Given the description of an element on the screen output the (x, y) to click on. 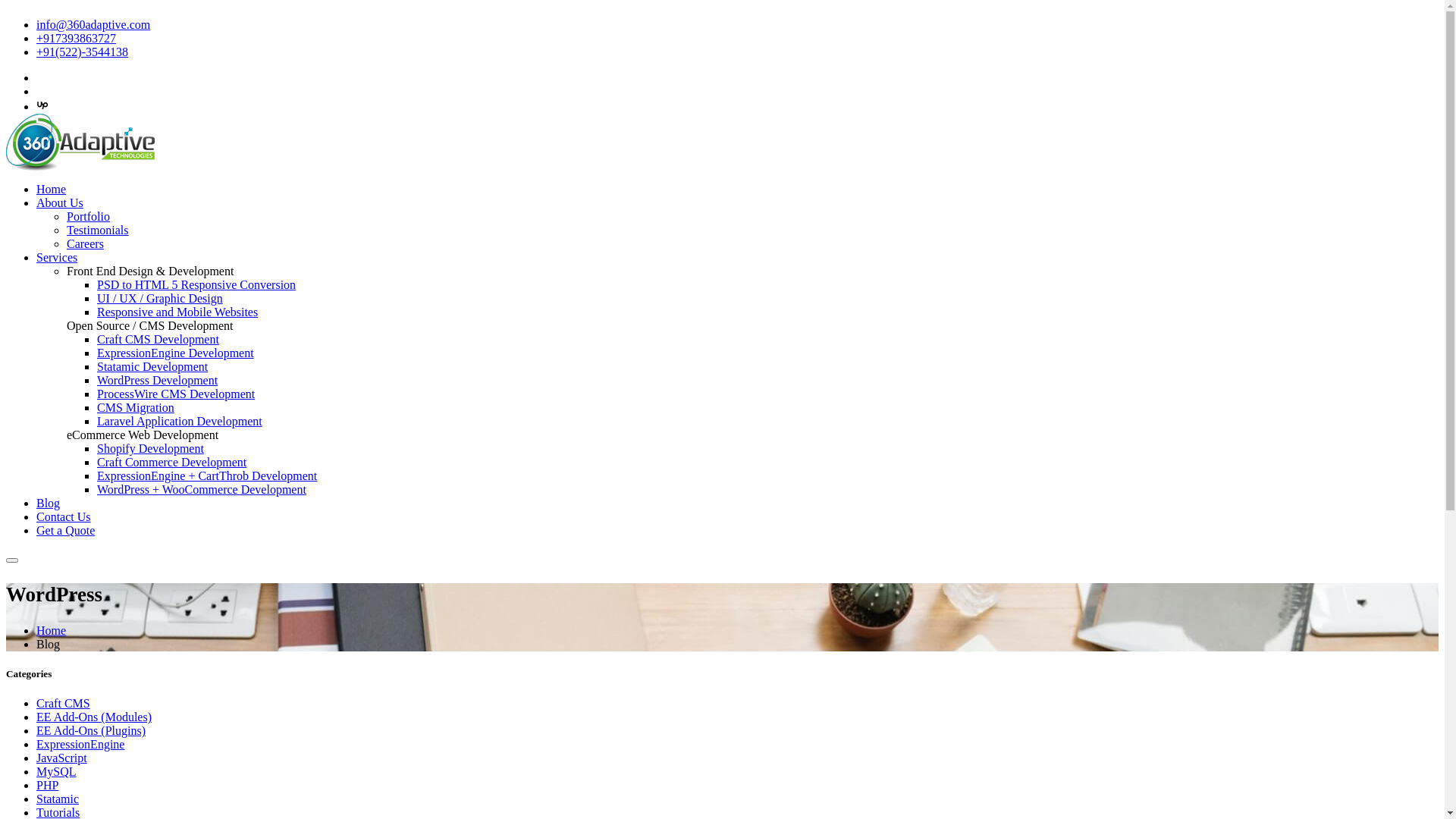
Home Element type: text (50, 188)
Craft CMS Element type: text (63, 702)
ExpressionEngine + CartThrob Development Element type: text (206, 475)
EE Add-Ons (Plugins) Element type: text (90, 730)
Shopify Development Element type: text (150, 448)
Laravel Application Development Element type: text (179, 420)
+91(522)-3544138 Element type: text (82, 51)
About Us Element type: text (59, 202)
ExpressionEngine Element type: text (80, 743)
Responsive and Mobile Websites Element type: text (177, 311)
Home Element type: text (50, 630)
UI / UX / Graphic Design Element type: text (159, 297)
Services Element type: text (56, 257)
+917393863727 Element type: text (76, 37)
Testimonials Element type: text (97, 229)
MySQL Element type: text (55, 771)
PHP Element type: text (47, 784)
Contact Us Element type: text (63, 516)
WordPress + WooCommerce Development Element type: text (201, 489)
Upwork Element type: hover (42, 106)
Craft CMS Development Element type: text (158, 338)
Statamic Development Element type: text (152, 366)
Statamic Element type: text (57, 798)
PSD to HTML 5 Responsive Conversion Element type: text (196, 284)
Craft Commerce Development Element type: text (171, 461)
Careers Element type: text (84, 243)
info@360adaptive.com Element type: text (93, 24)
ExpressionEngine Development Element type: text (175, 352)
Blog Element type: text (47, 502)
ProcessWire CMS Development Element type: text (175, 393)
Portfolio Element type: text (87, 216)
JavaScript Element type: text (61, 757)
WordPress Development Element type: text (157, 379)
EE Add-Ons (Modules) Element type: text (93, 716)
CMS Migration Element type: text (135, 407)
Get a Quote Element type: text (65, 530)
